Given the description of an element on the screen output the (x, y) to click on. 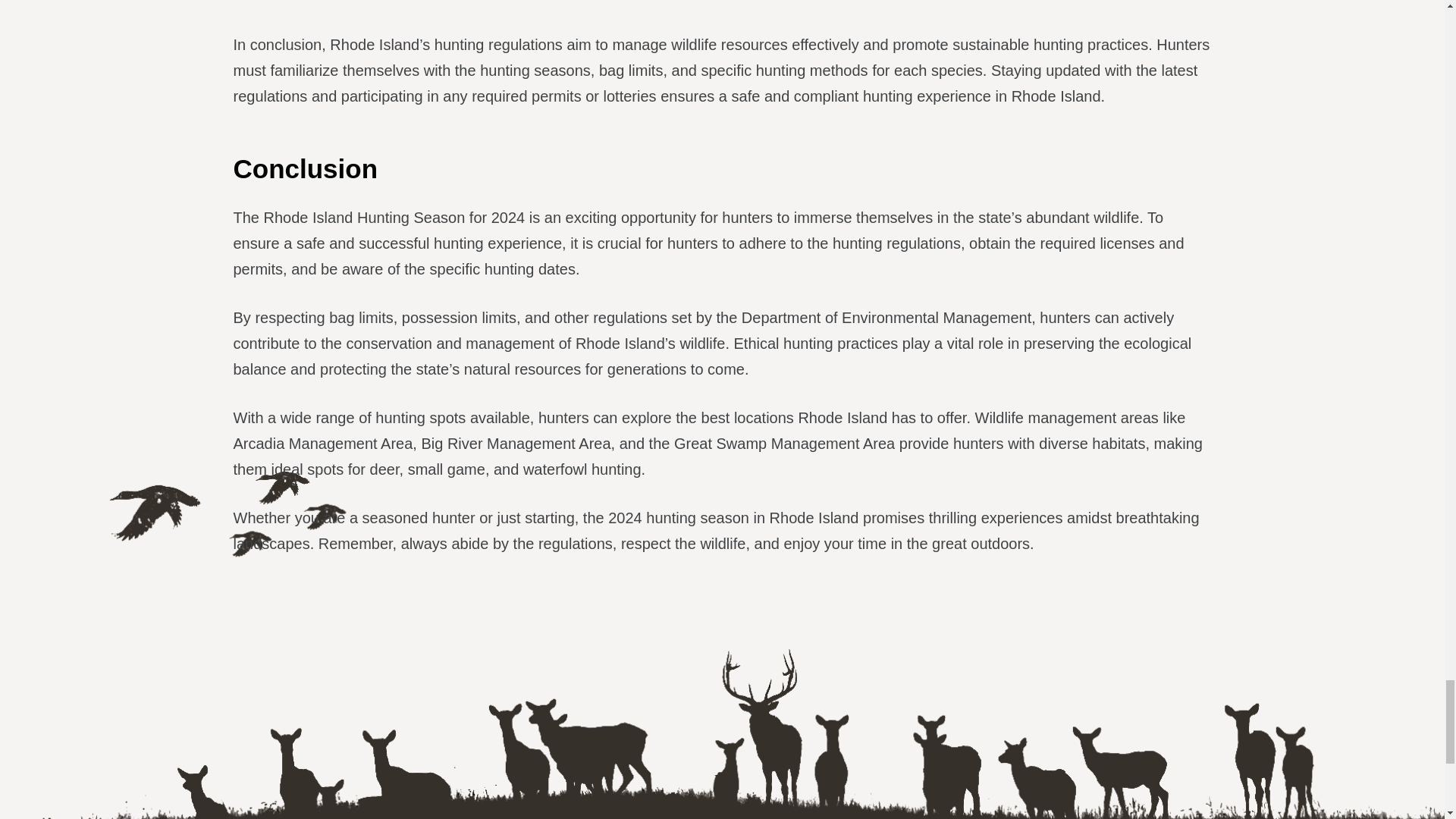
Hunting in Rhode Island (721, 4)
